Given the description of an element on the screen output the (x, y) to click on. 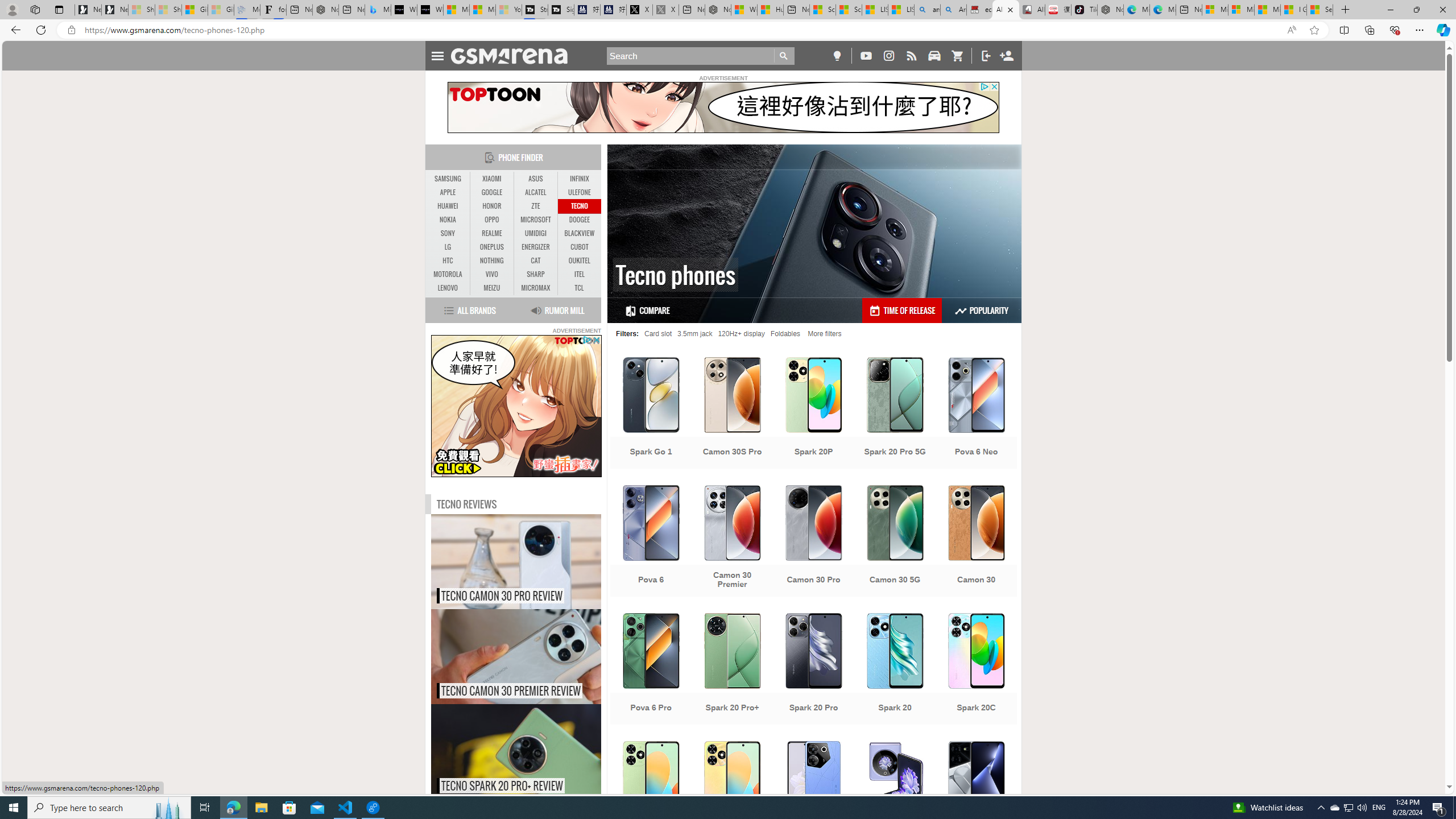
ULEFONE (579, 192)
120Hz+ display (740, 333)
ULEFONE (579, 192)
ENERGIZER (535, 246)
Read aloud this page (Ctrl+Shift+U) (1291, 29)
ZTE (535, 205)
Tecno Camon 30 Premier review (539, 656)
SAMSUNG (448, 178)
